Given the description of an element on the screen output the (x, y) to click on. 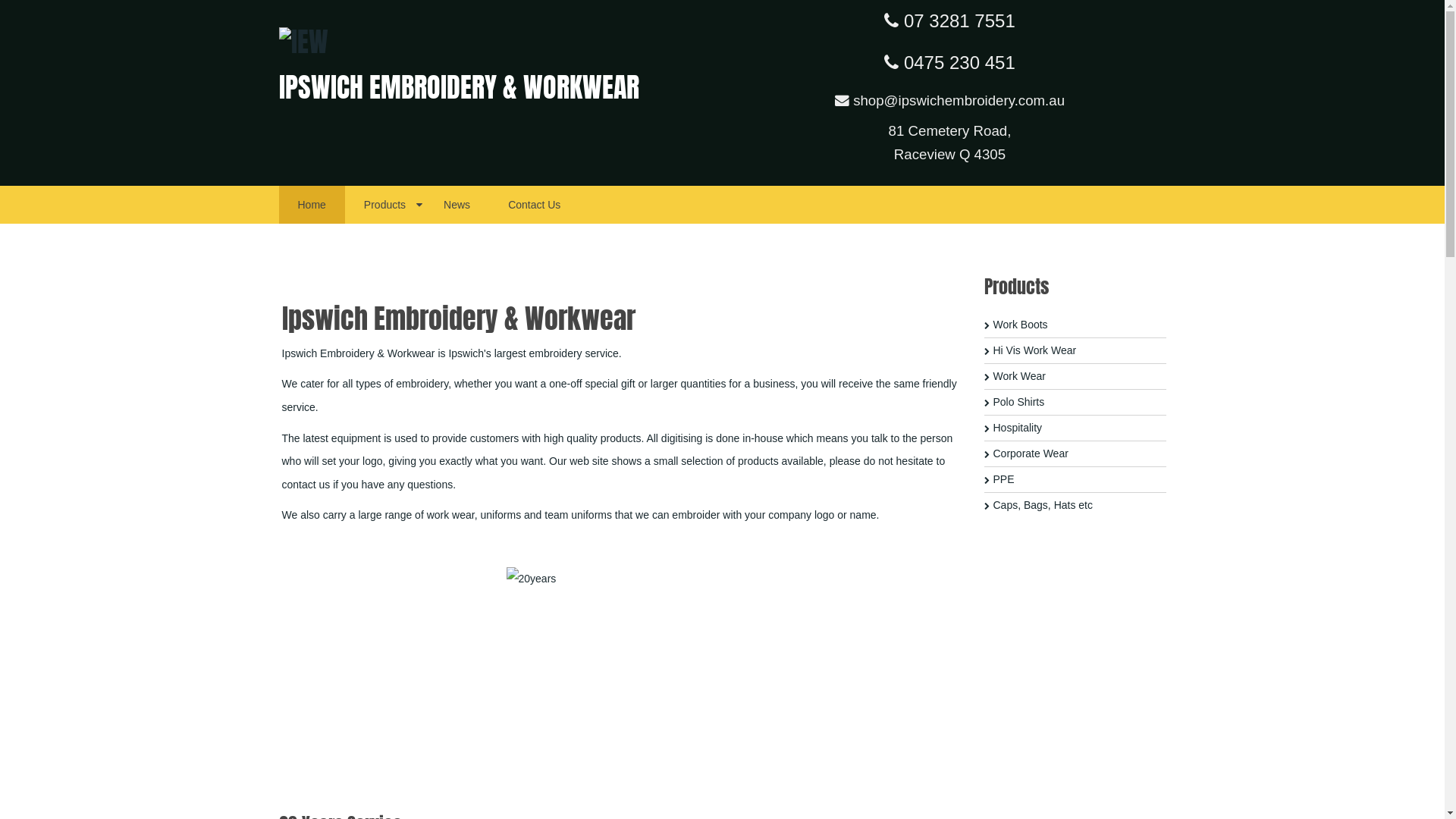
News Element type: text (456, 204)
07 3281 7551 Element type: text (949, 20)
Products Element type: text (384, 204)
Home Element type: text (312, 204)
Caps, Bags, Hats etc Element type: text (1075, 504)
Contact Us Element type: text (534, 204)
Hi Vis Work Wear Element type: text (1075, 351)
Hospitality Element type: text (1075, 428)
Work Wear Element type: text (1075, 376)
Ipswich Embroidery & Workwear Element type: hover (303, 40)
Work Boots Element type: text (1075, 325)
shop@ipswichembroidery.com.au Element type: text (949, 100)
0475 230 451 Element type: text (949, 62)
Polo Shirts Element type: text (1075, 402)
Corporate Wear Element type: text (1075, 454)
PPE Element type: text (1075, 479)
